Given the description of an element on the screen output the (x, y) to click on. 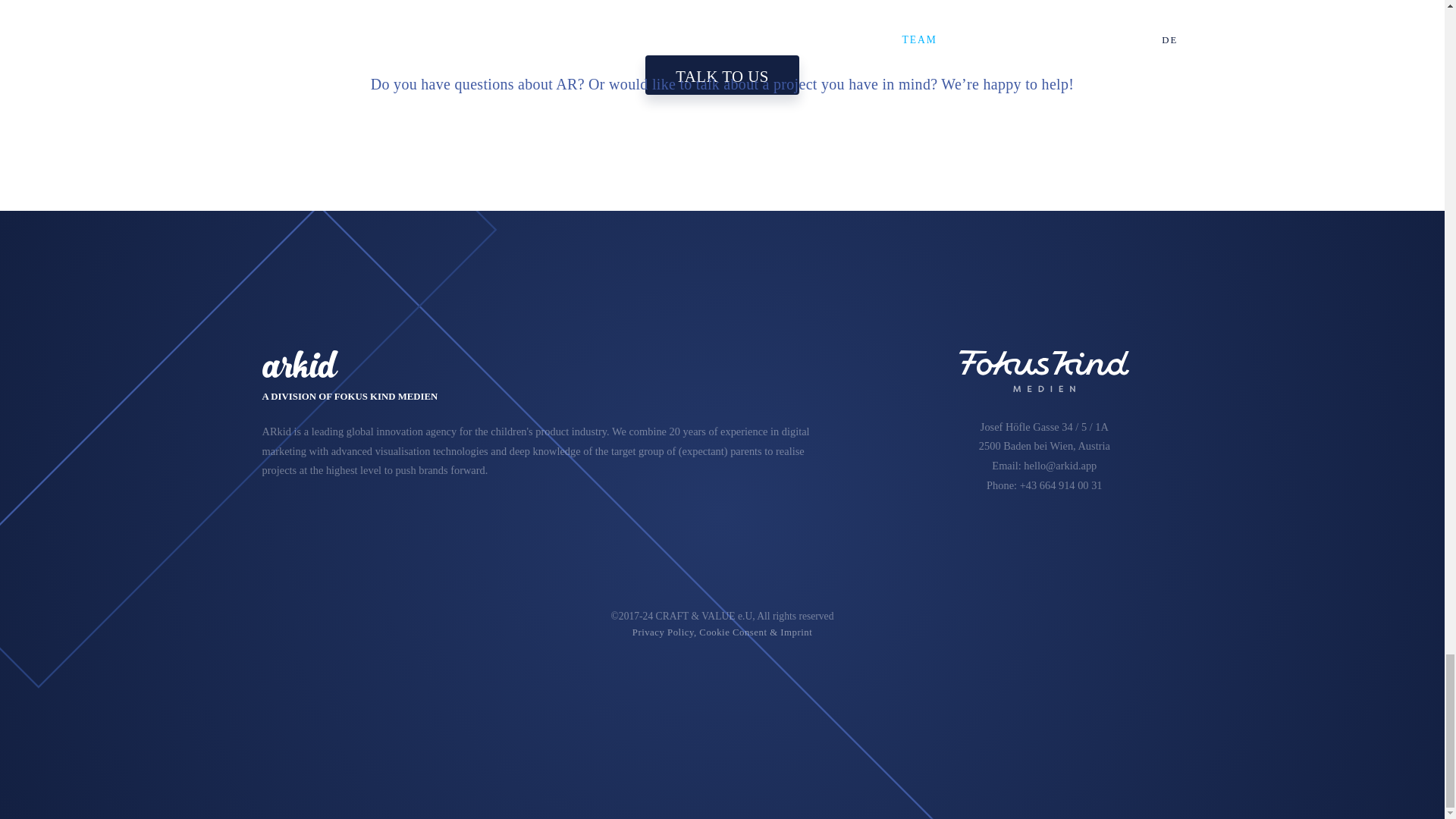
TALK TO US (722, 75)
